Given the description of an element on the screen output the (x, y) to click on. 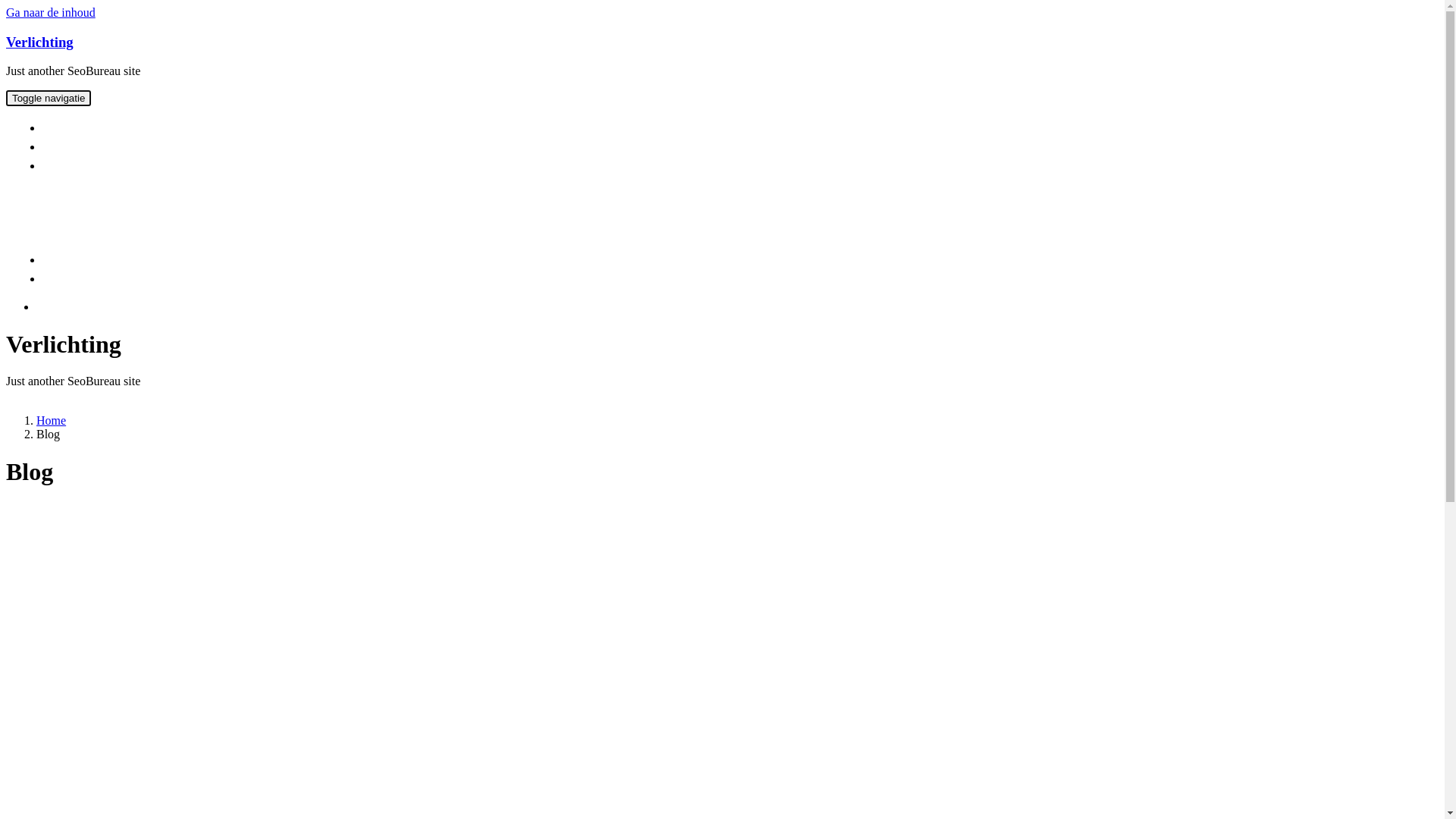
LINKS Element type: text (68, 165)
CONTACT Element type: text (78, 146)
BLOG Element type: text (66, 259)
VERLICHTING BRUGGE Element type: text (113, 127)
Ga naar de inhoud Element type: text (50, 12)
Verlichting Element type: text (39, 42)
LED VERLICHTING Element type: text (102, 278)
Toggle navigatie Element type: text (48, 98)
Home Element type: text (50, 420)
